Given the description of an element on the screen output the (x, y) to click on. 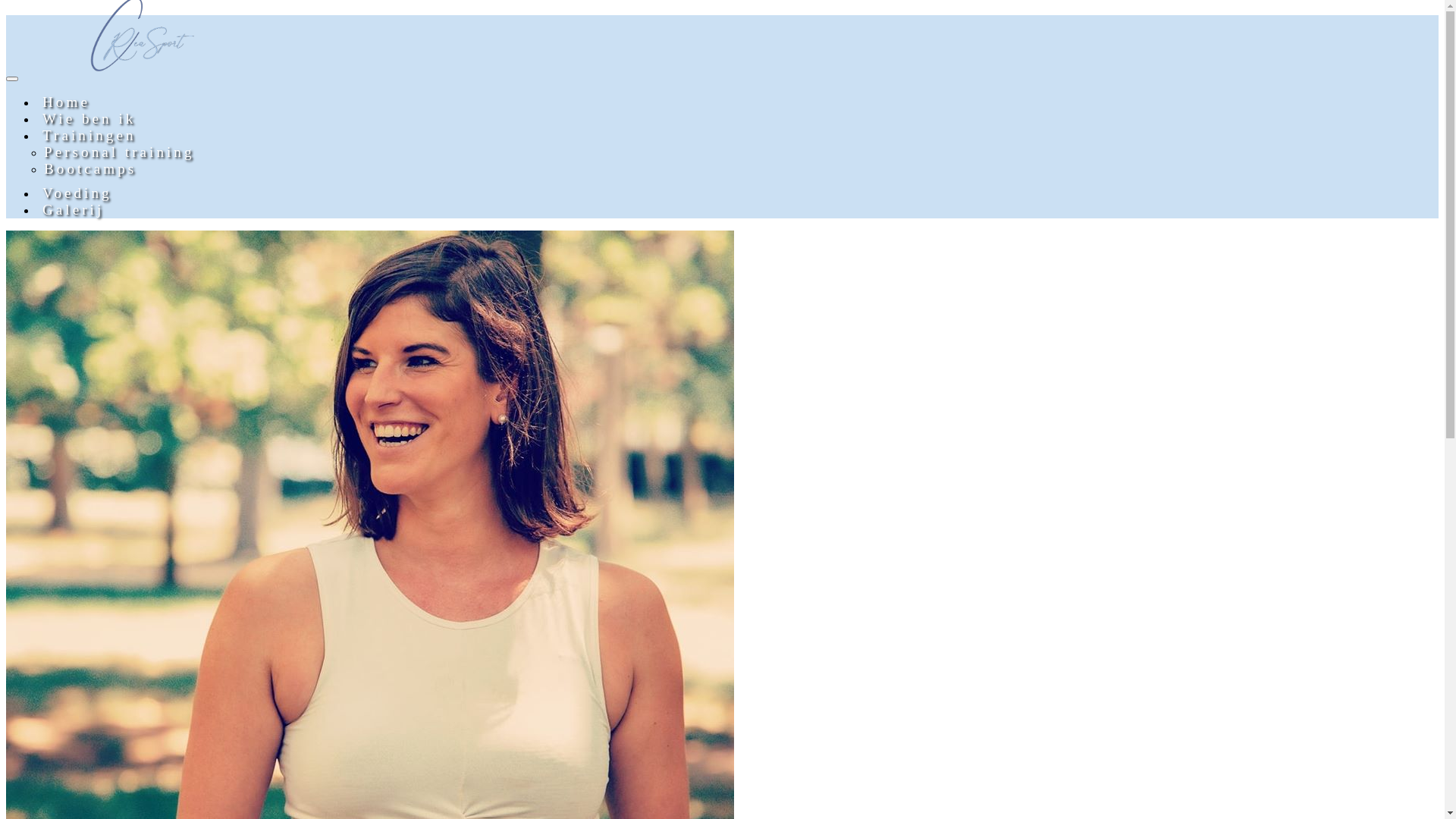
Bootcamps Element type: text (89, 168)
Personal training Element type: text (118, 152)
Wie ben ik Element type: text (88, 118)
Trainingen Element type: text (89, 135)
Voeding Element type: text (77, 192)
Home Element type: text (66, 101)
Galerij Element type: text (72, 209)
